Given the description of an element on the screen output the (x, y) to click on. 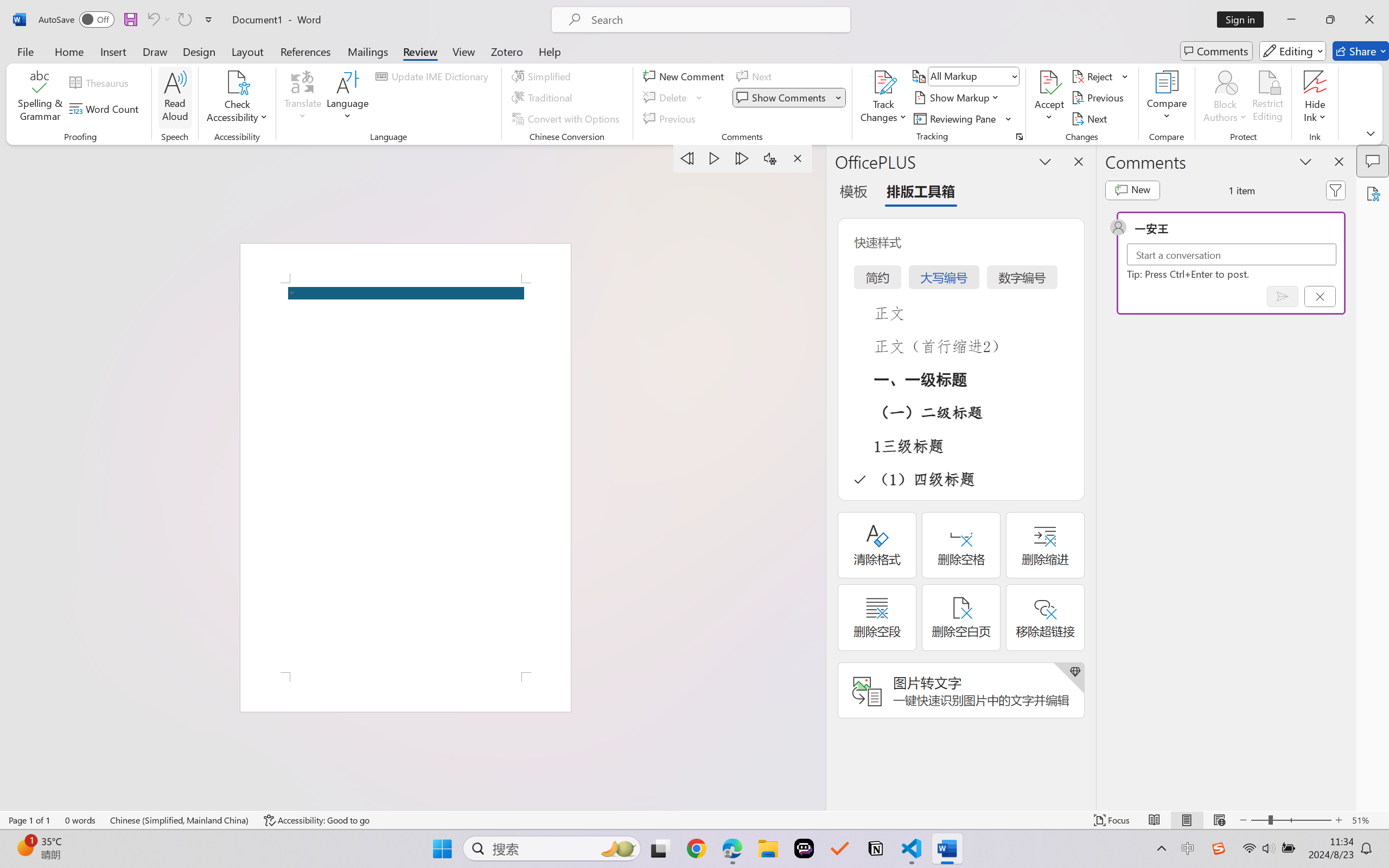
Simplified (542, 75)
Settings (770, 158)
Hide Ink (1315, 97)
Change Tracking Options... (1019, 136)
Delete (673, 97)
Language Chinese (Simplified, Mainland China) (179, 819)
Next (1090, 118)
Next Paragraph (743, 158)
